Given the description of an element on the screen output the (x, y) to click on. 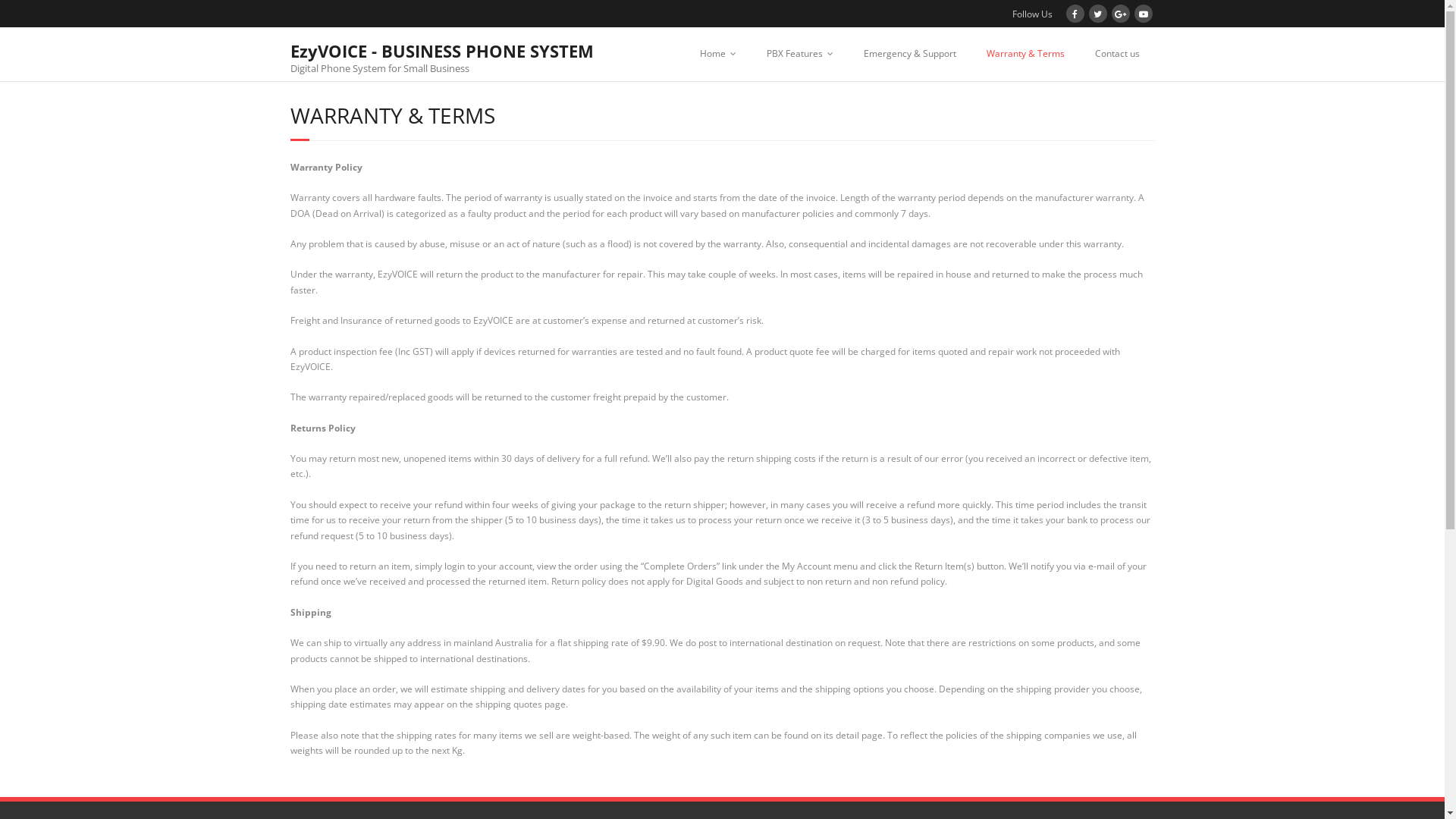
Emergency & Support Element type: text (908, 53)
Home Element type: text (717, 53)
Contact us Element type: text (1116, 53)
Warranty & Terms Element type: text (1024, 53)
PBX Features Element type: text (798, 53)
